Given the description of an element on the screen output the (x, y) to click on. 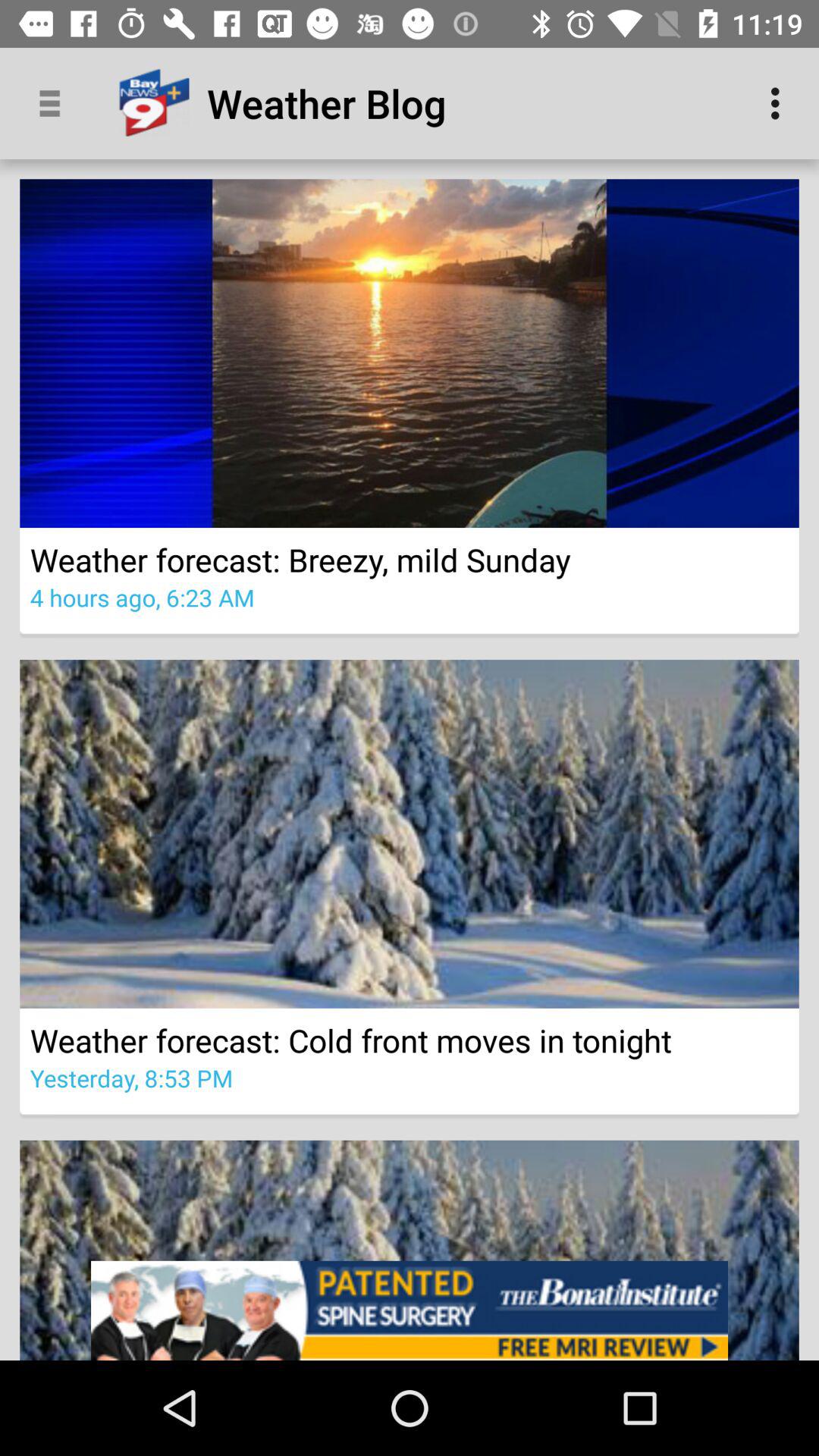
choose the icon at the top right corner (779, 103)
